Given the description of an element on the screen output the (x, y) to click on. 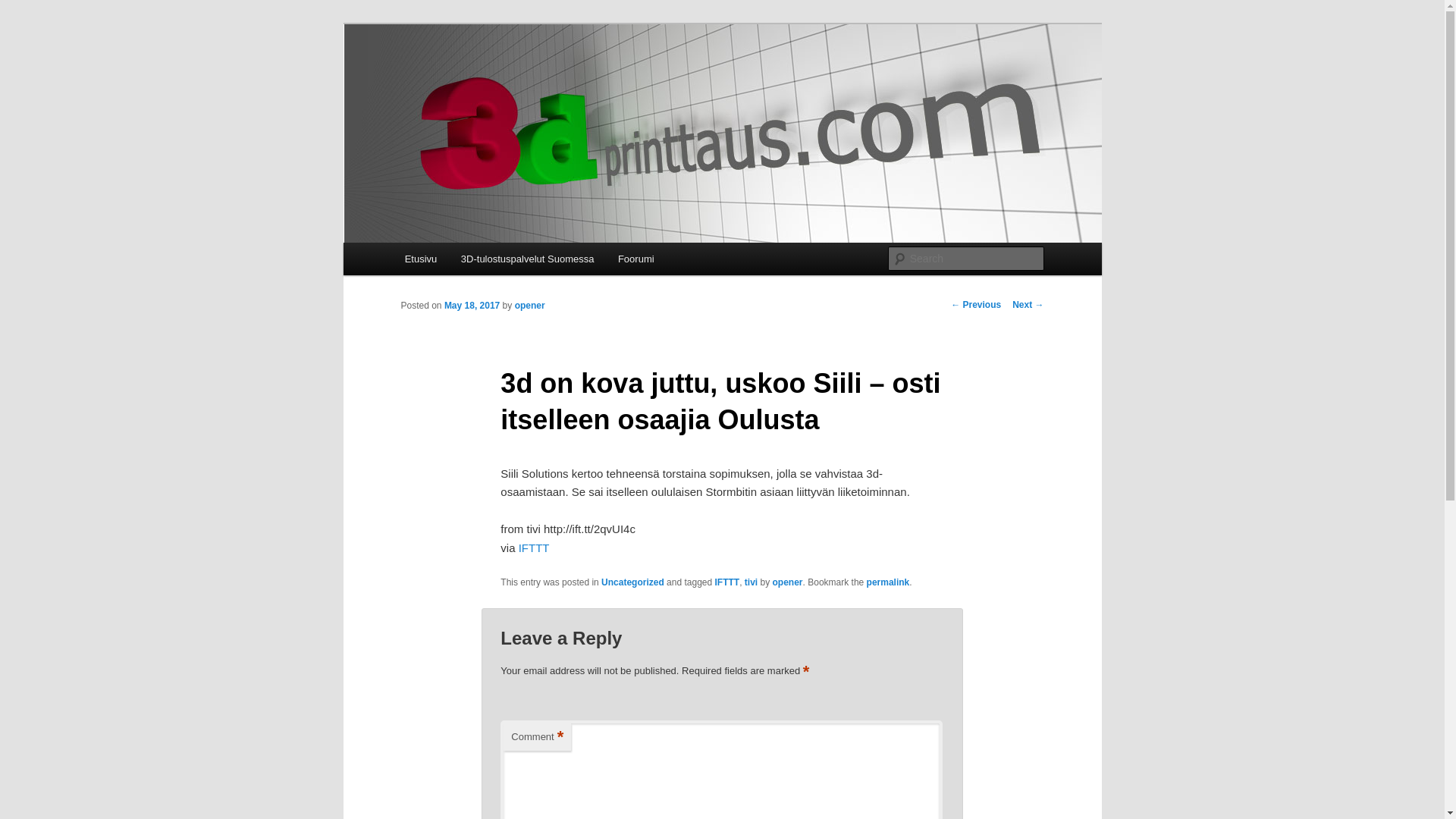
Uncategorized Element type: text (632, 582)
Skip to primary content Element type: text (22, 22)
tivi Element type: text (750, 582)
permalink Element type: text (888, 582)
3D-tulostuspalvelut Suomessa Element type: text (526, 258)
Search Element type: text (24, 8)
May 18, 2017 Element type: text (471, 305)
IFTTT Element type: text (727, 582)
Foorumi Element type: text (635, 258)
opener Element type: text (529, 305)
opener Element type: text (787, 582)
IFTTT Element type: text (533, 547)
3D Printtaus Element type: text (467, 78)
Etusivu Element type: text (420, 258)
